Given the description of an element on the screen output the (x, y) to click on. 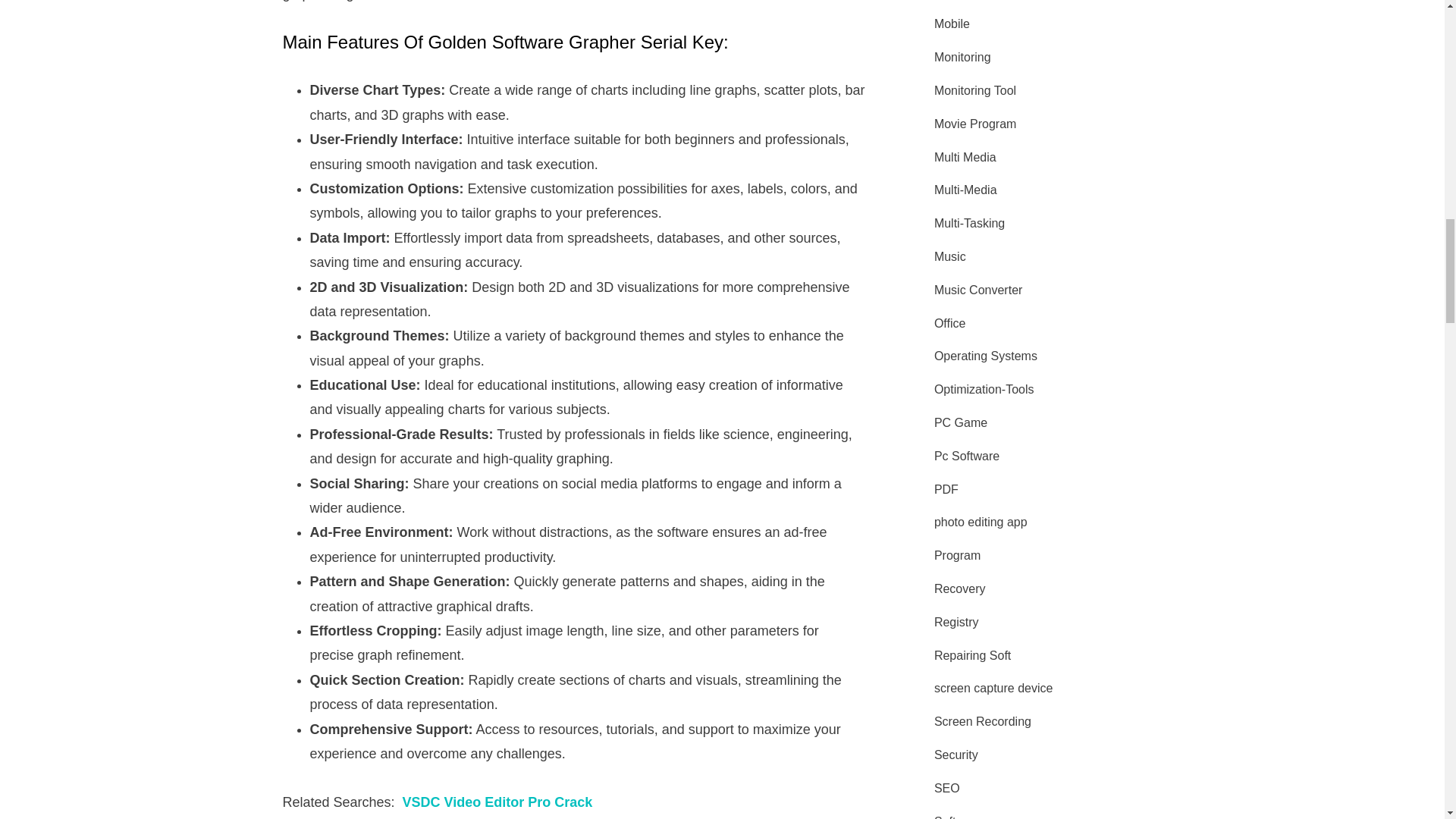
 VSDC Video Editor Pro Crack (495, 801)
